Given the description of an element on the screen output the (x, y) to click on. 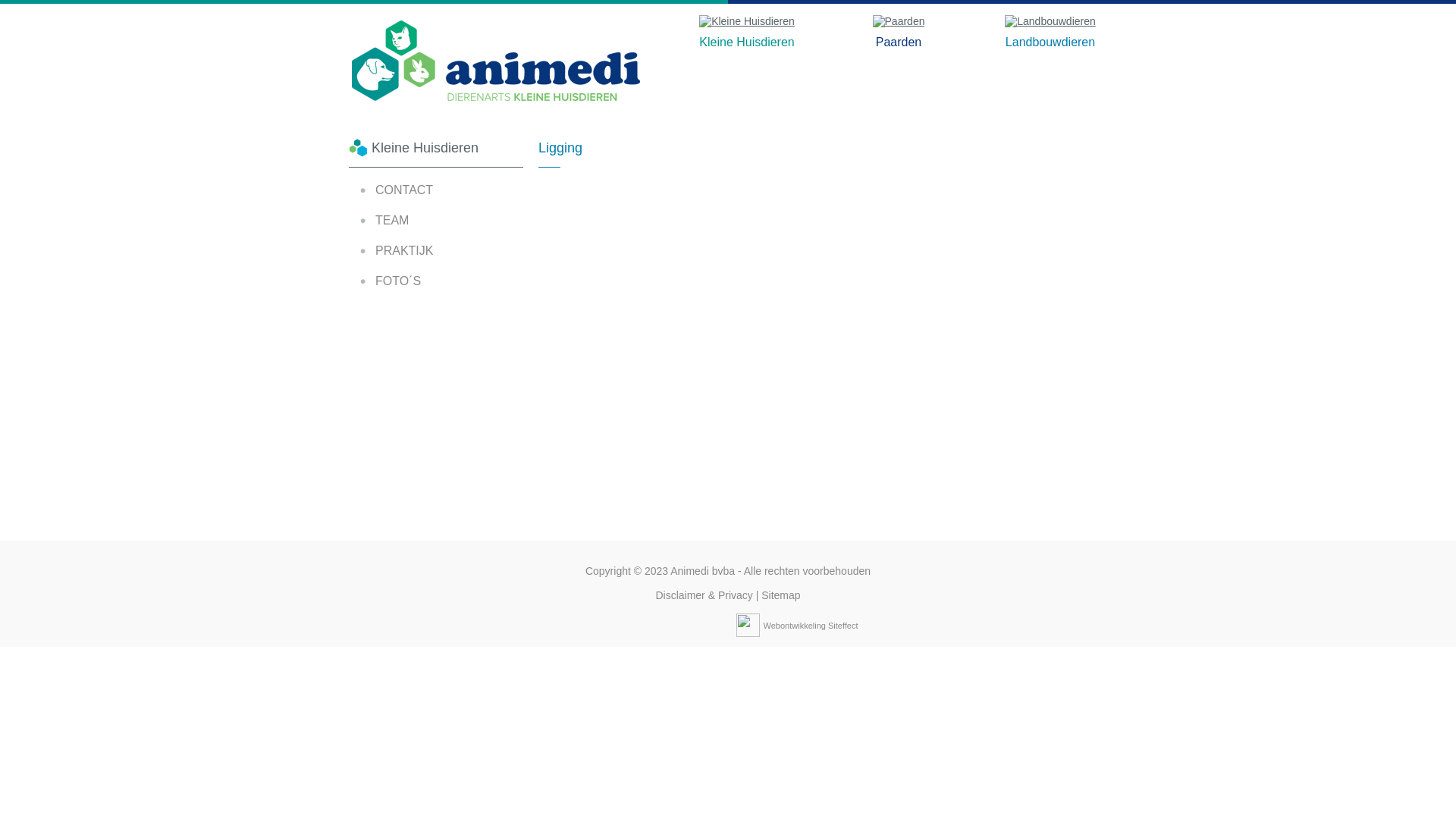
Paarden Element type: text (898, 42)
Landbouwdieren Element type: hover (1049, 21)
Disclaimer & Privacy Element type: text (703, 595)
Sitemap Element type: text (780, 595)
CONTACT Element type: text (449, 190)
Paarden Element type: hover (898, 21)
Landbouwdieren Element type: text (1050, 42)
Kleine Huisdieren Element type: hover (746, 21)
Webontwikkeling Siteffect Element type: text (810, 624)
Kleine Huisdieren Element type: text (746, 42)
PRAKTIJK Element type: text (449, 250)
TEAM Element type: text (449, 220)
